Given the description of an element on the screen output the (x, y) to click on. 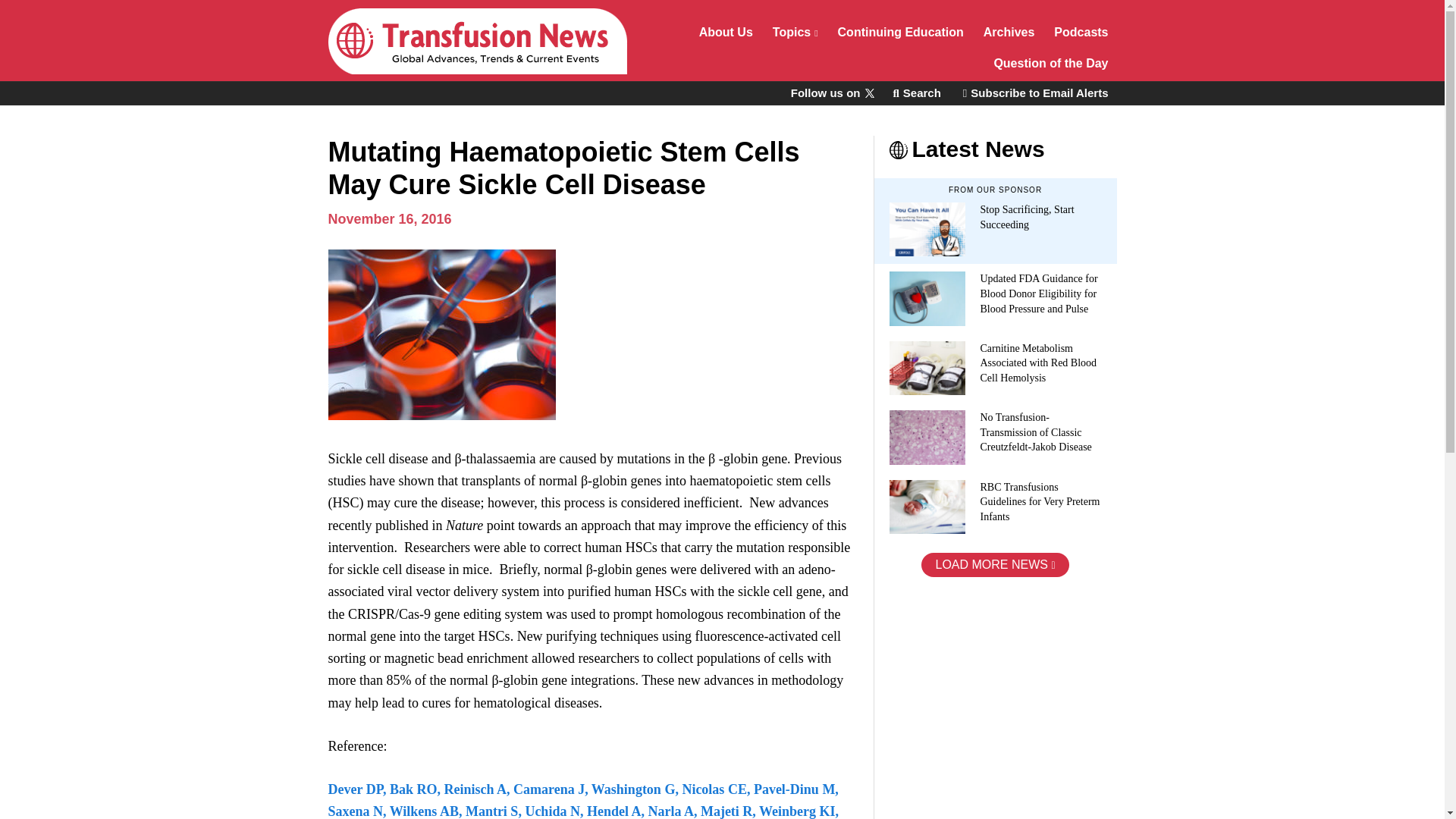
Follow us on (831, 92)
Subscribe to Email Alerts (1035, 93)
Archives (1009, 33)
Search (915, 93)
Topics (795, 33)
Continuing Education (900, 33)
Podcasts (1080, 33)
3rd party ad content (986, 698)
Question of the Day (1050, 65)
Transfusion News (476, 41)
About Us (725, 33)
